Given the description of an element on the screen output the (x, y) to click on. 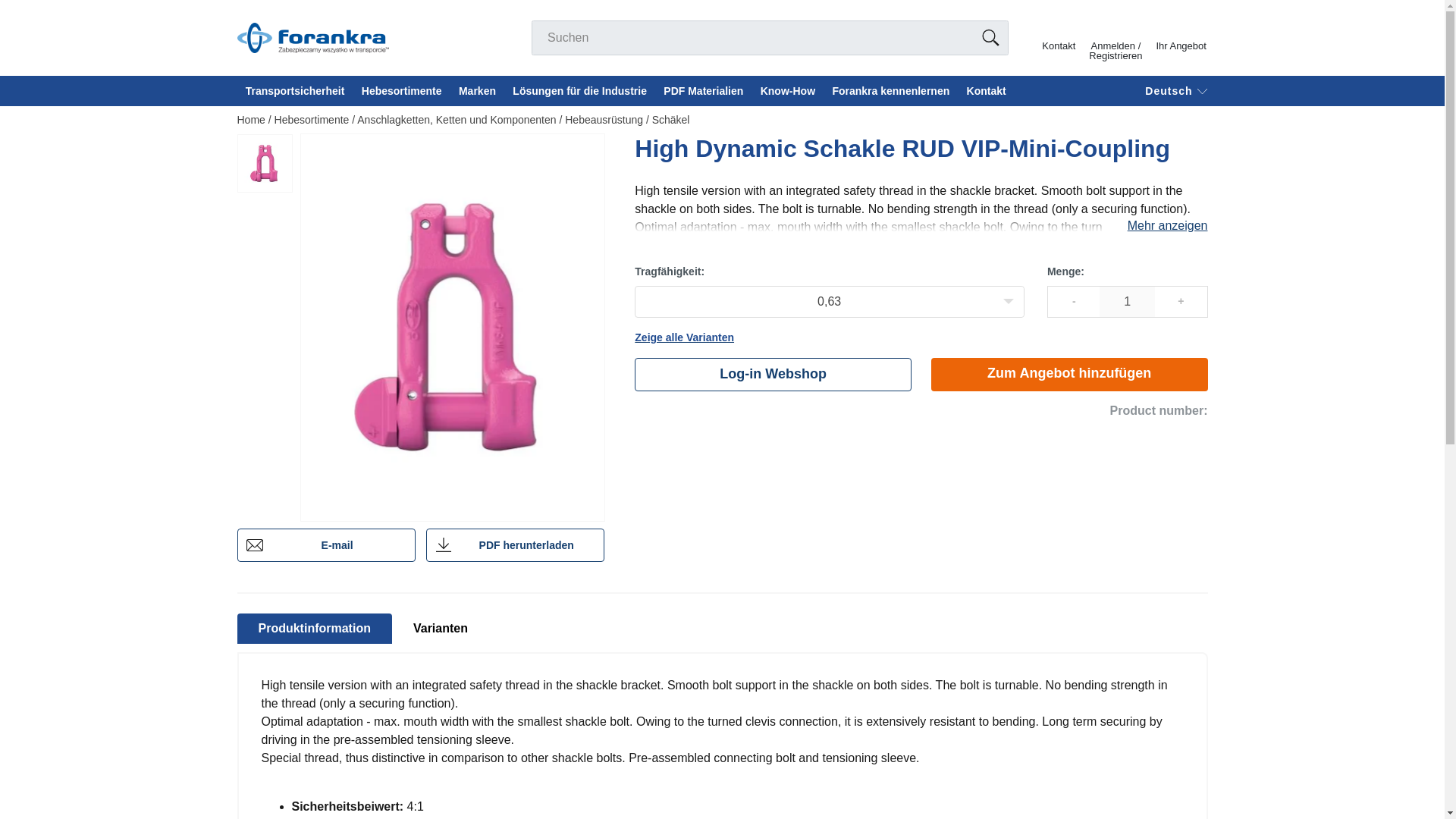
- (1074, 301)
Kontakt (1058, 33)
Ihr Angebot (1181, 33)
forankra-pl (311, 38)
Transportsicherheit (293, 91)
1 (1126, 301)
